Given the description of an element on the screen output the (x, y) to click on. 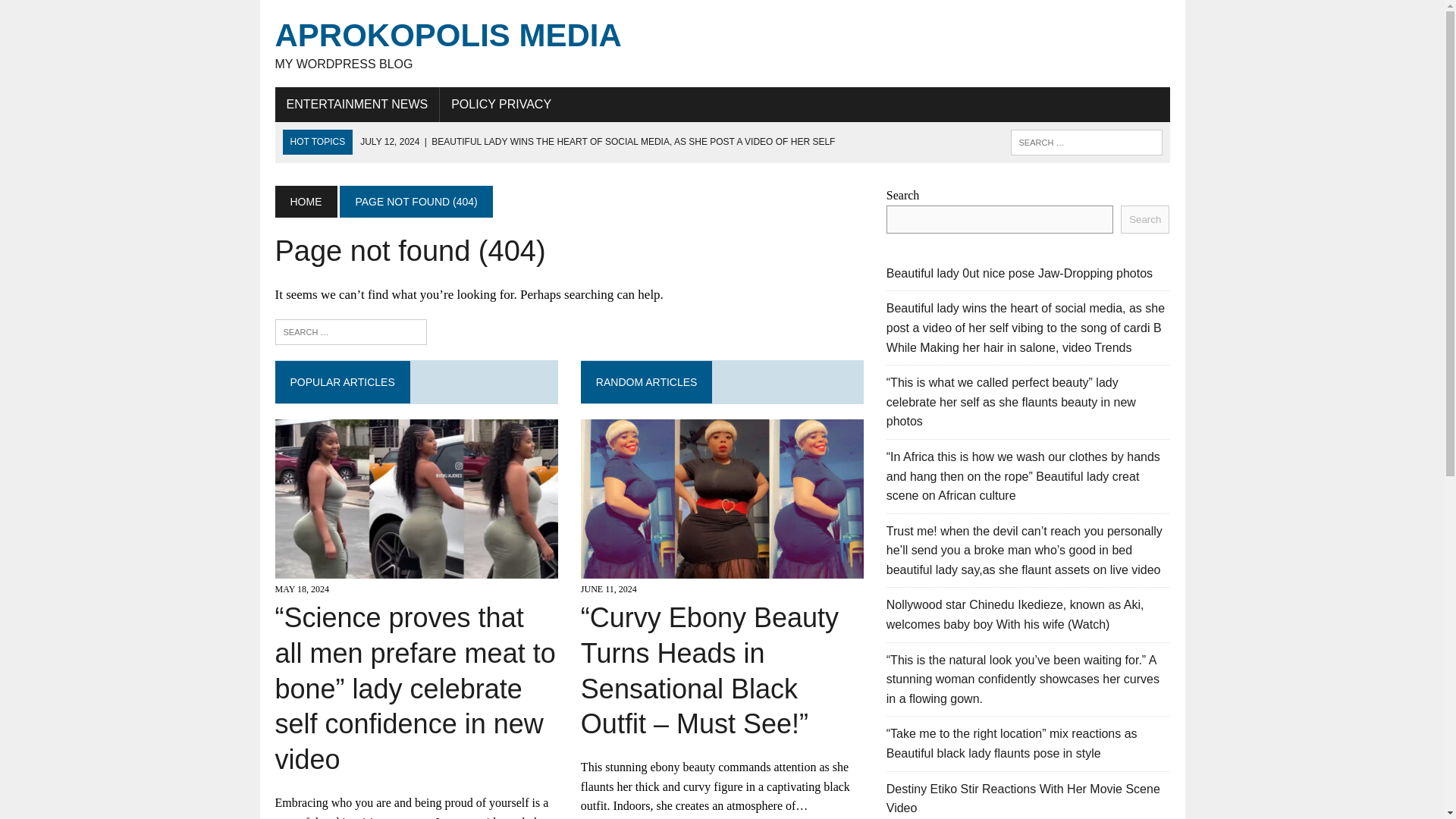
ENTERTAINMENT NEWS (357, 104)
Search (1145, 219)
Aprokopolis media (722, 43)
HOME (305, 201)
READ MORE (721, 817)
Search (75, 14)
Beautiful lady 0ut nice pose Jaw-Dropping photos (1019, 273)
POLICY PRIVACY (500, 104)
